Given the description of an element on the screen output the (x, y) to click on. 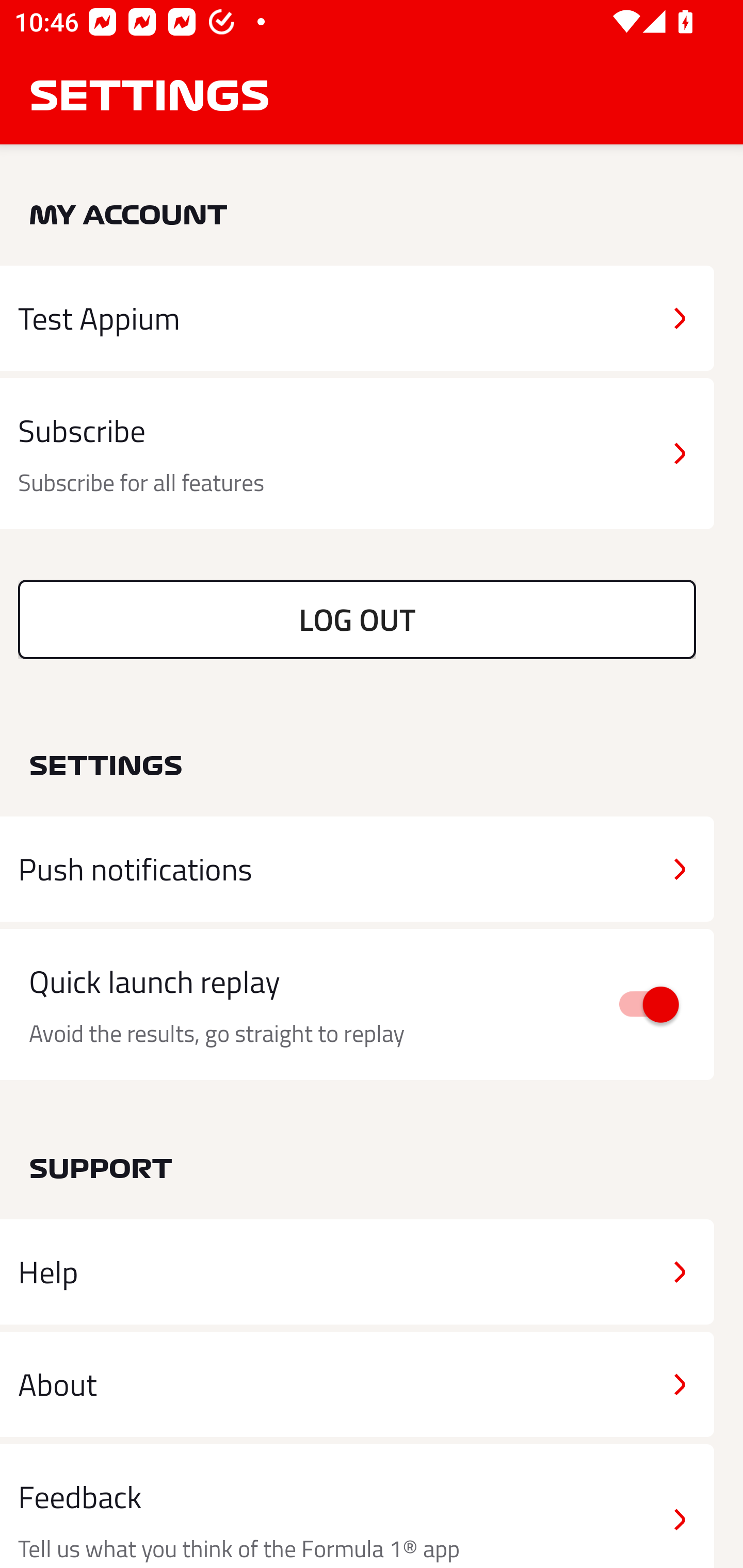
Test Appium (357, 317)
Subscribe Subscribe for all features (357, 453)
LOG OUT (356, 619)
Push notifications (357, 868)
Help (357, 1271)
About (357, 1383)
